Given the description of an element on the screen output the (x, y) to click on. 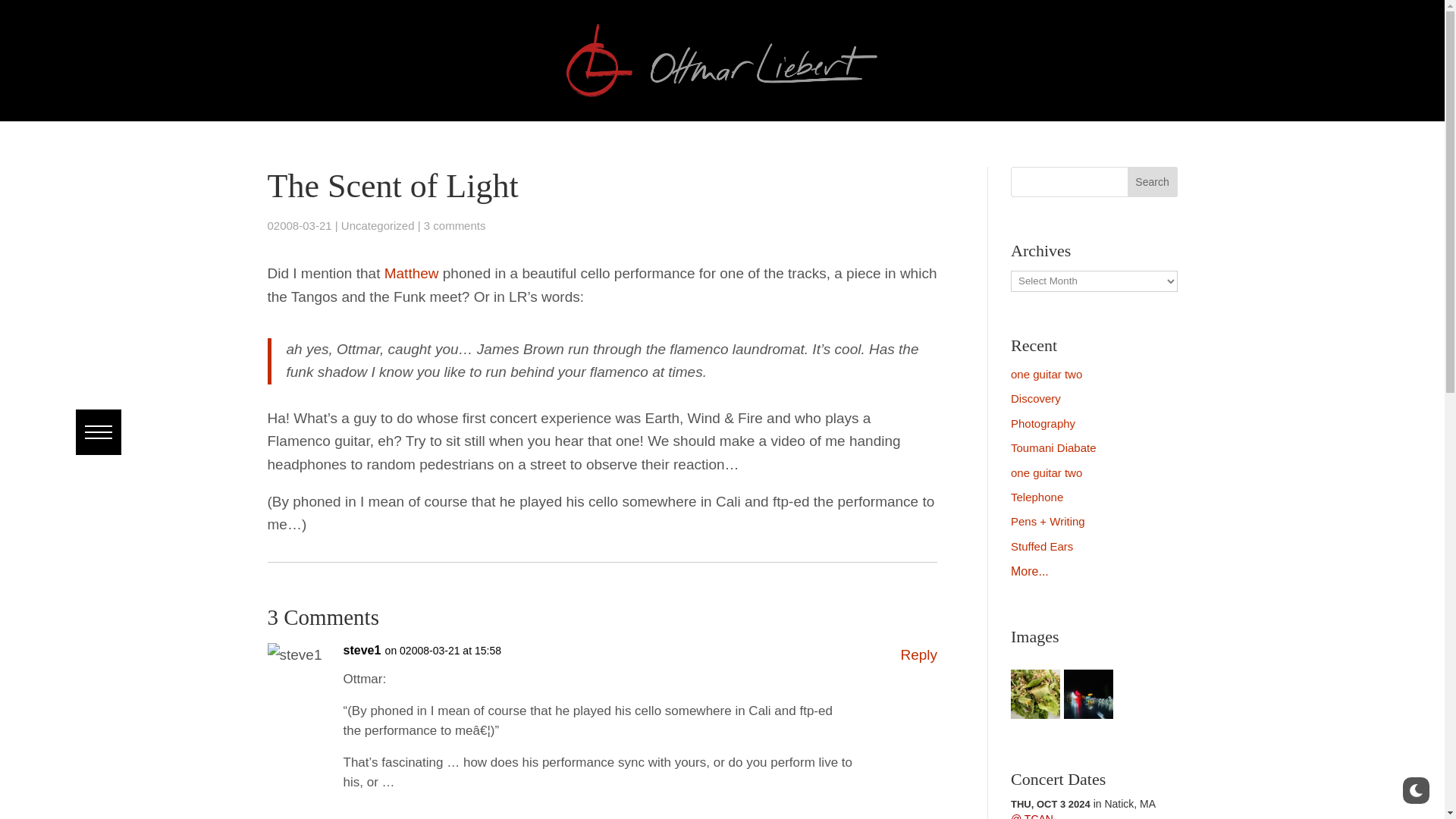
Discovery (1035, 398)
Search (1151, 182)
Telephone (1036, 496)
More... (1029, 571)
one guitar two (1045, 373)
ol-hand-drawn-logo-8bit (722, 60)
Uncategorized (377, 225)
Search (1151, 182)
Search (48, 10)
Matthew (411, 273)
